Given the description of an element on the screen output the (x, y) to click on. 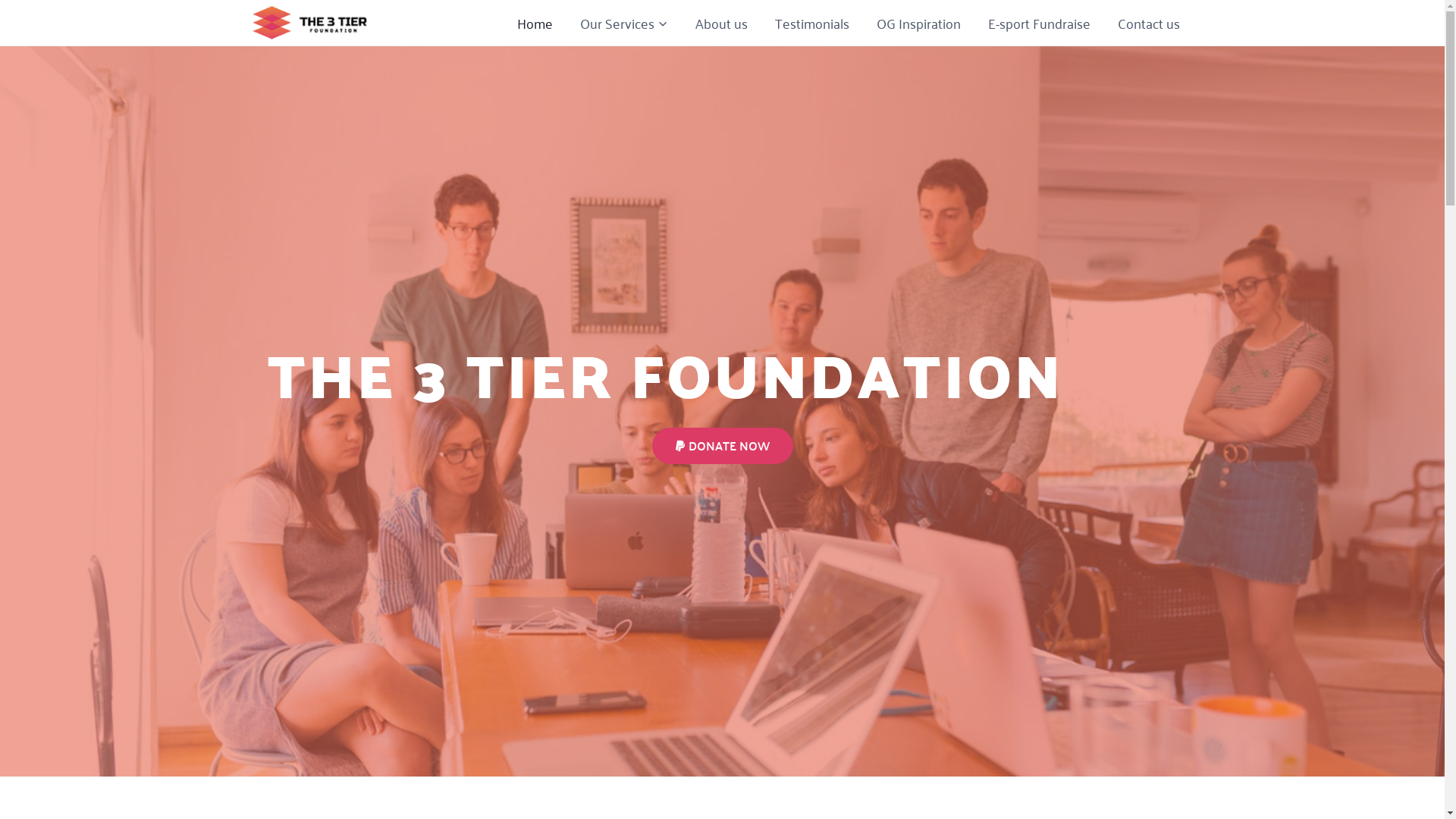
Testimonials Element type: text (811, 22)
Home Element type: text (534, 22)
Our Services Element type: text (622, 22)
Contact us Element type: text (1148, 22)
E-sport Fundraise Element type: text (1038, 22)
DONATE NOW Element type: text (722, 445)
OG Inspiration Element type: text (918, 22)
About us Element type: text (720, 22)
